Given the description of an element on the screen output the (x, y) to click on. 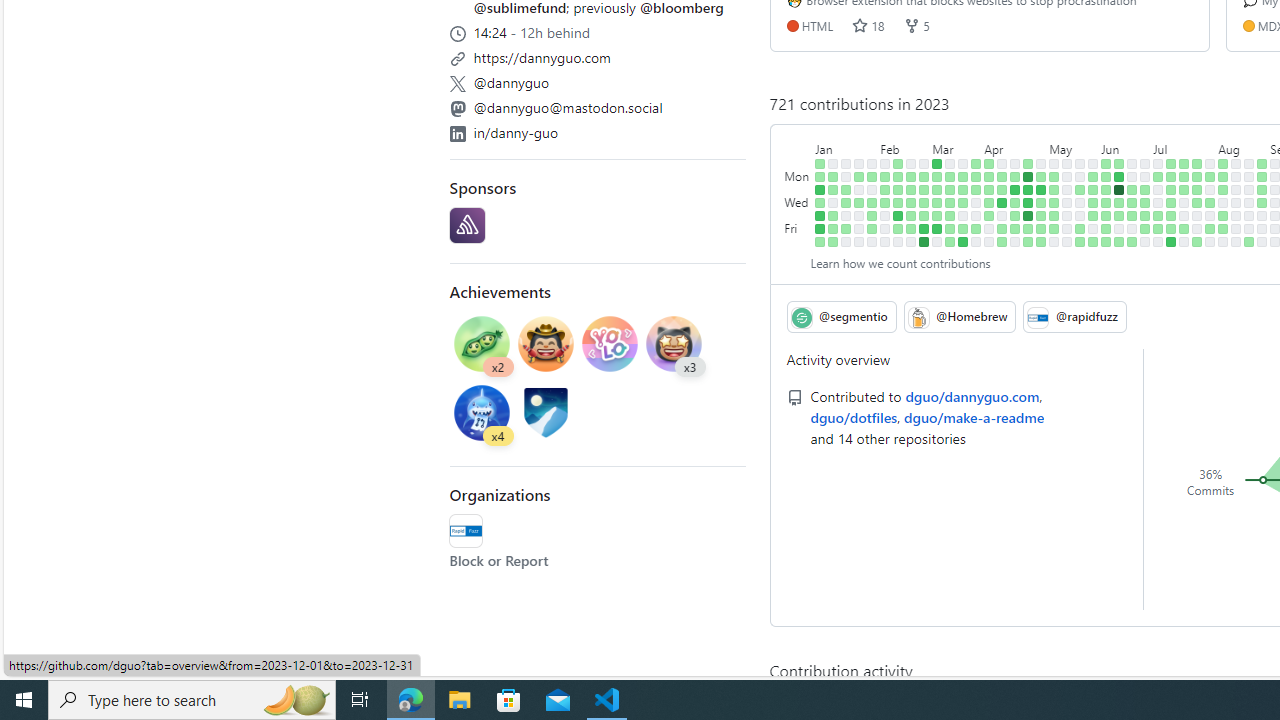
 @rapidfuzz (1074, 316)
1 contribution on January 25th. (859, 202)
9 contributions on July 15th. (1171, 241)
4 contributions on July 14th. (1171, 228)
1 contribution on March 2nd. (924, 215)
No contributions on July 19th. (1184, 202)
13 contributions on February 16th. (898, 215)
2 contributions on August 27th. (1262, 163)
2 contributions on May 30th. (1093, 189)
dguo/dannyguo.com (971, 395)
1 contribution on April 6th. (989, 215)
1 contribution on February 3rd. (872, 228)
1 contribution on July 13th. (1171, 215)
14 contributions on March 25th. (962, 241)
No contributions on February 25th. (911, 241)
